Given the description of an element on the screen output the (x, y) to click on. 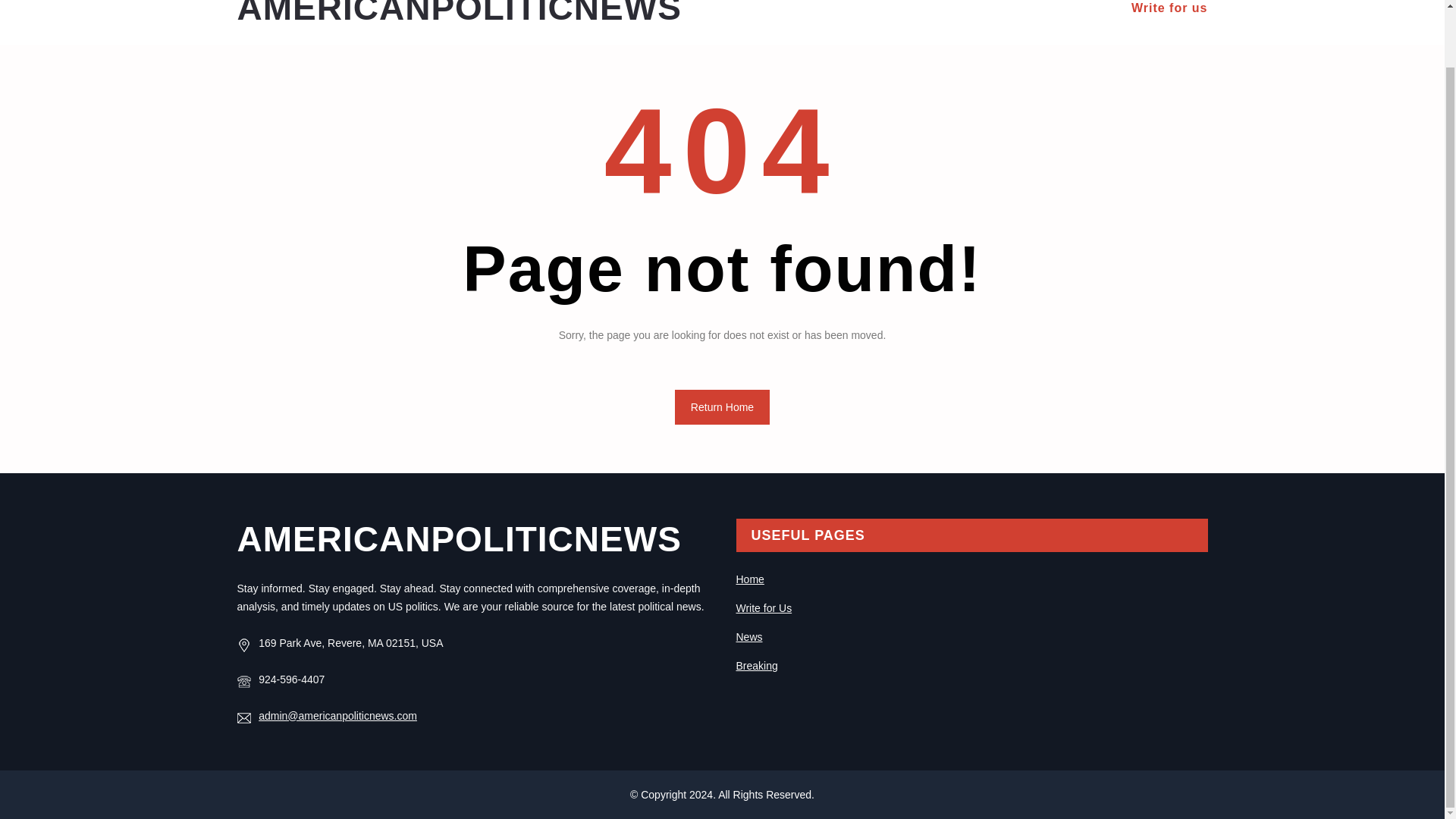
Write for us (1169, 8)
Home (748, 579)
AMERICANPOLITICNEWS (458, 13)
News (748, 636)
Write for Us (763, 607)
Breaking (756, 665)
AMERICANPOLITICNEWS (458, 538)
Return Home (722, 407)
